Given the description of an element on the screen output the (x, y) to click on. 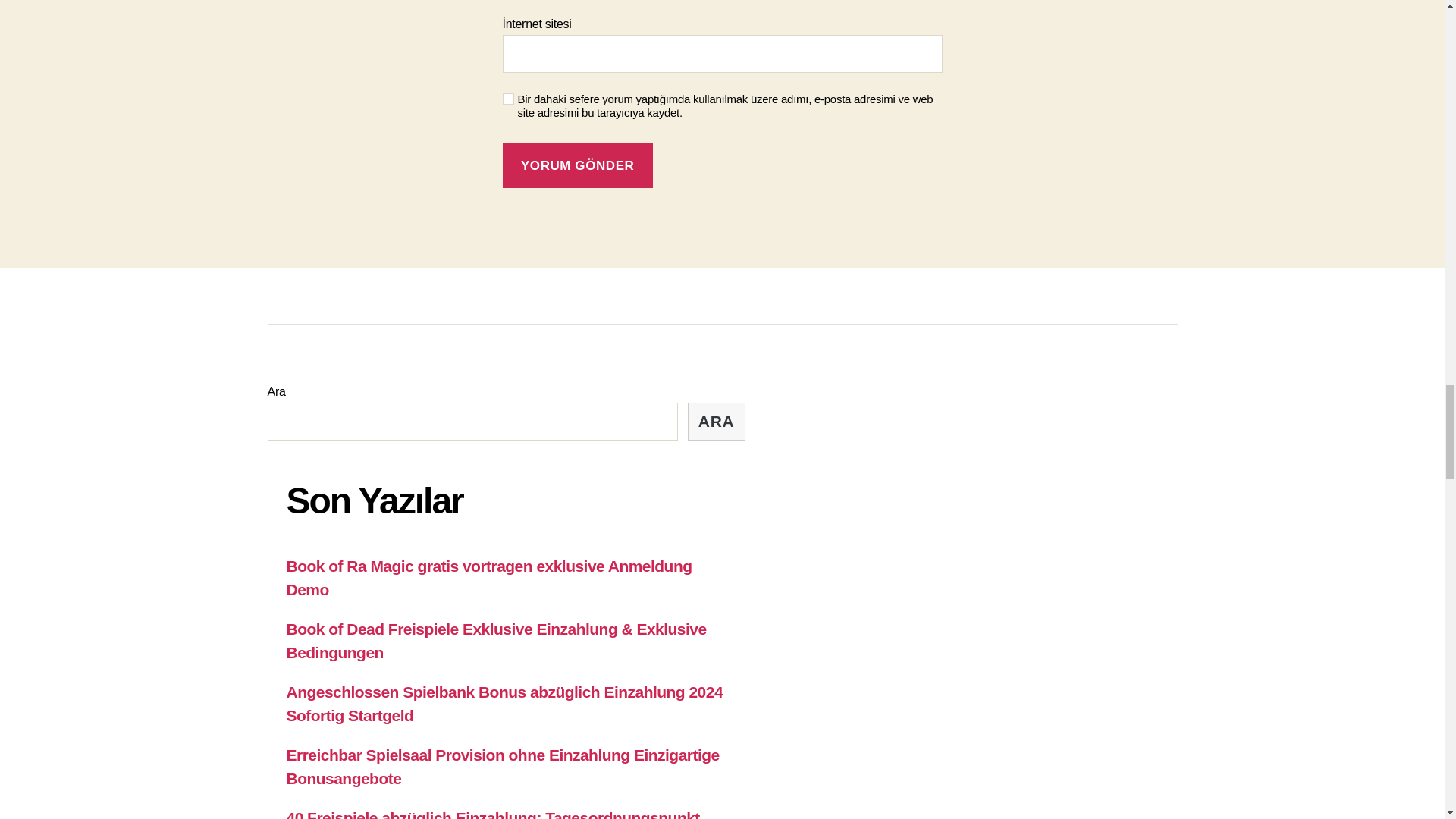
ARA (716, 421)
Book of Ra Magic gratis vortragen exklusive Anmeldung Demo (489, 577)
yes (507, 98)
